Given the description of an element on the screen output the (x, y) to click on. 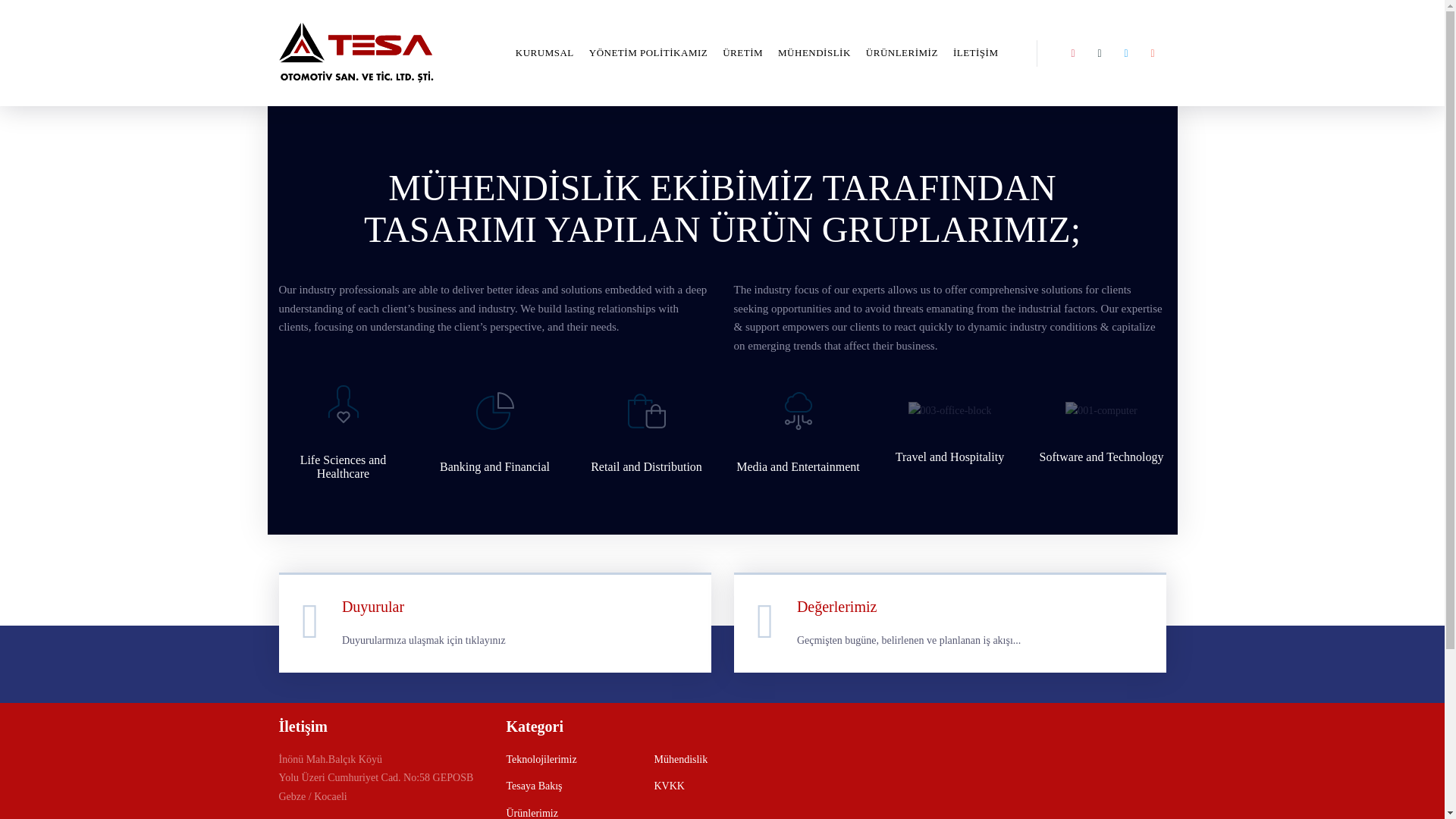
Life Sciences and Healthcare (343, 466)
Travel and Hospitality (949, 456)
Software and Technology (1101, 456)
Retail and Distribution (646, 466)
KVKK (668, 785)
Teknolojilerimiz (541, 759)
Media and Entertainment (798, 466)
Banking and Financial (494, 466)
KURUMSAL (544, 53)
Duyurular (373, 606)
